Given the description of an element on the screen output the (x, y) to click on. 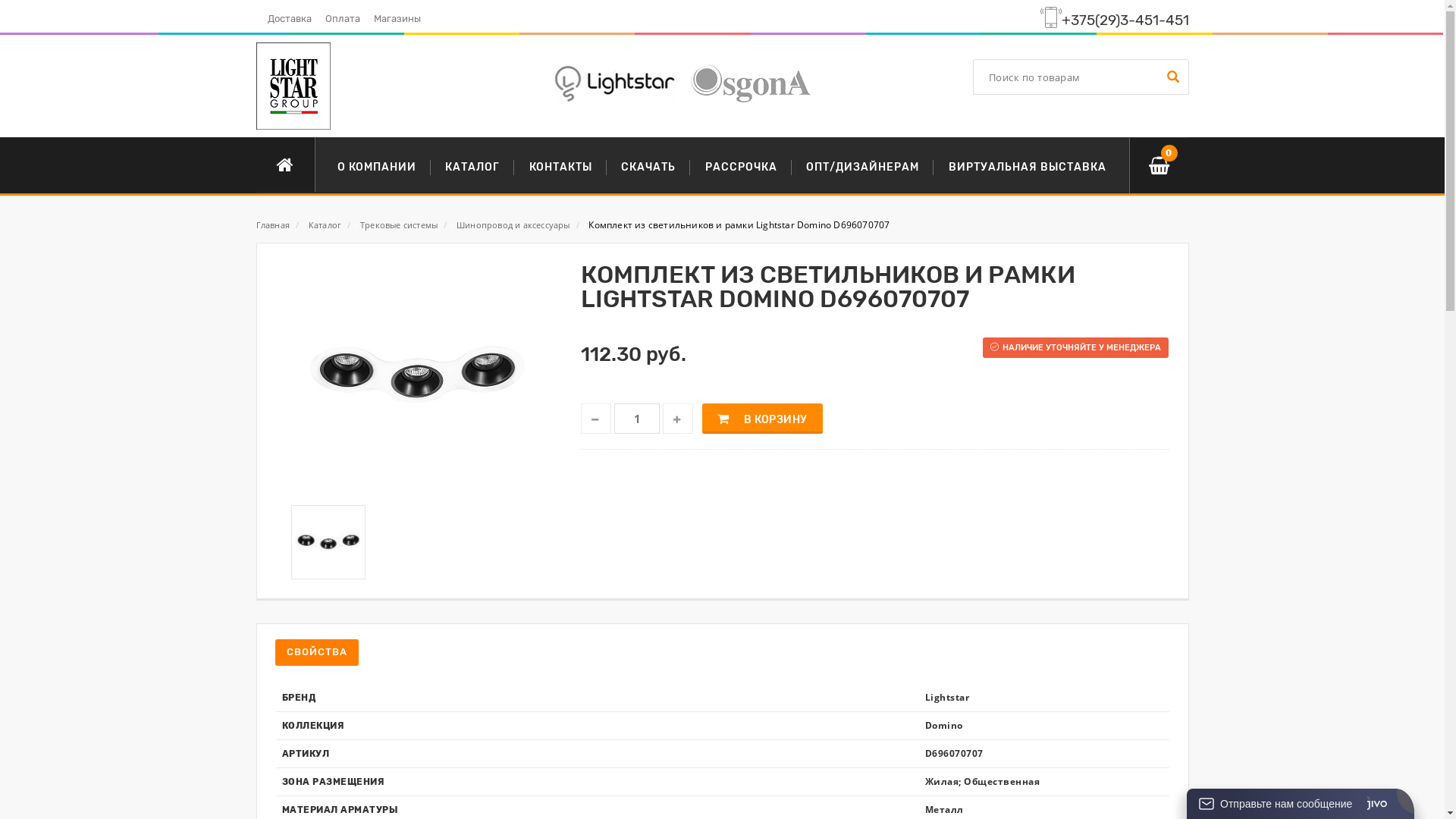
  Element type: text (1171, 76)
+375(29)3-451-451 Element type: text (1125, 20)
  Element type: text (677, 418)
Qty Element type: hover (636, 418)
  Element type: text (595, 418)
0 Element type: text (1158, 165)
